Given the description of an element on the screen output the (x, y) to click on. 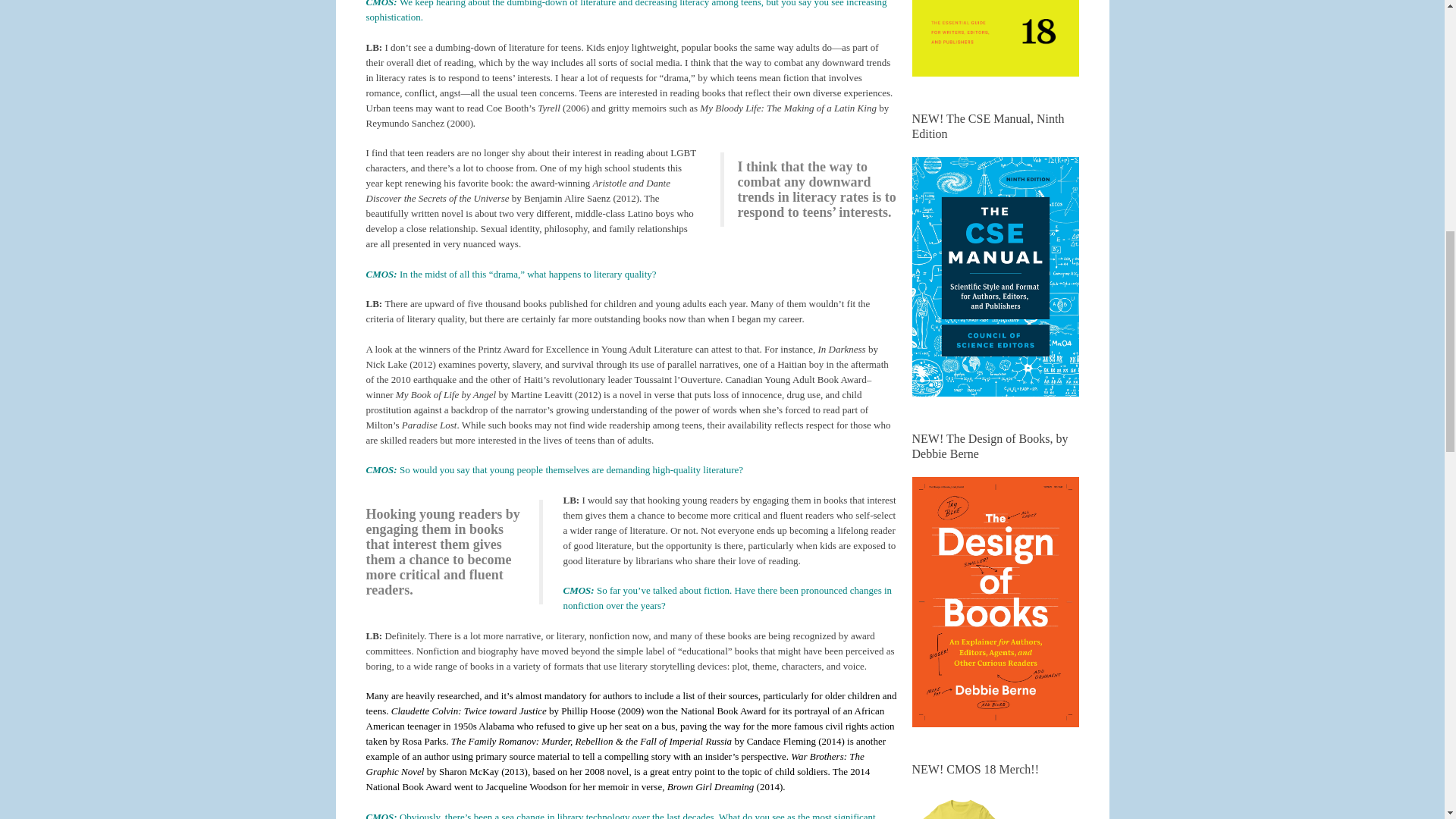
Where Research Begins: An Amazon Best Seller! (994, 38)
